Given the description of an element on the screen output the (x, y) to click on. 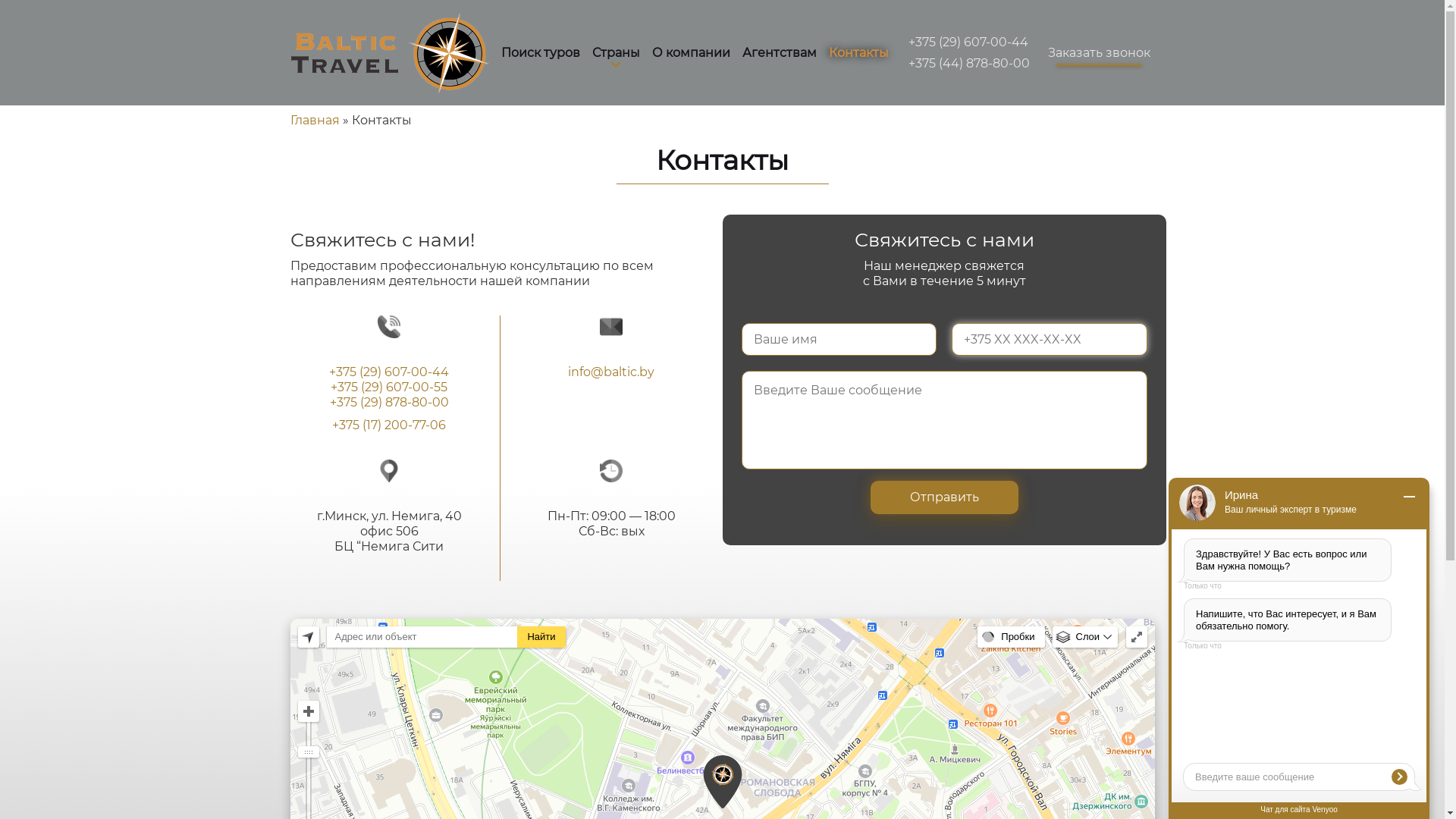
+375 (29) 607-00-44 Element type: text (388, 371)
+375 (44) 878-80-00 Element type: text (968, 63)
+375 (29) 607-00-44 Element type: text (968, 41)
+375 (17) 200-77-06 Element type: text (388, 424)
+375 (29) 878-80-00 Element type: text (388, 401)
info@baltic.by Element type: text (610, 371)
+375 (29) 607-00-55 Element type: text (388, 386)
